Given the description of an element on the screen output the (x, y) to click on. 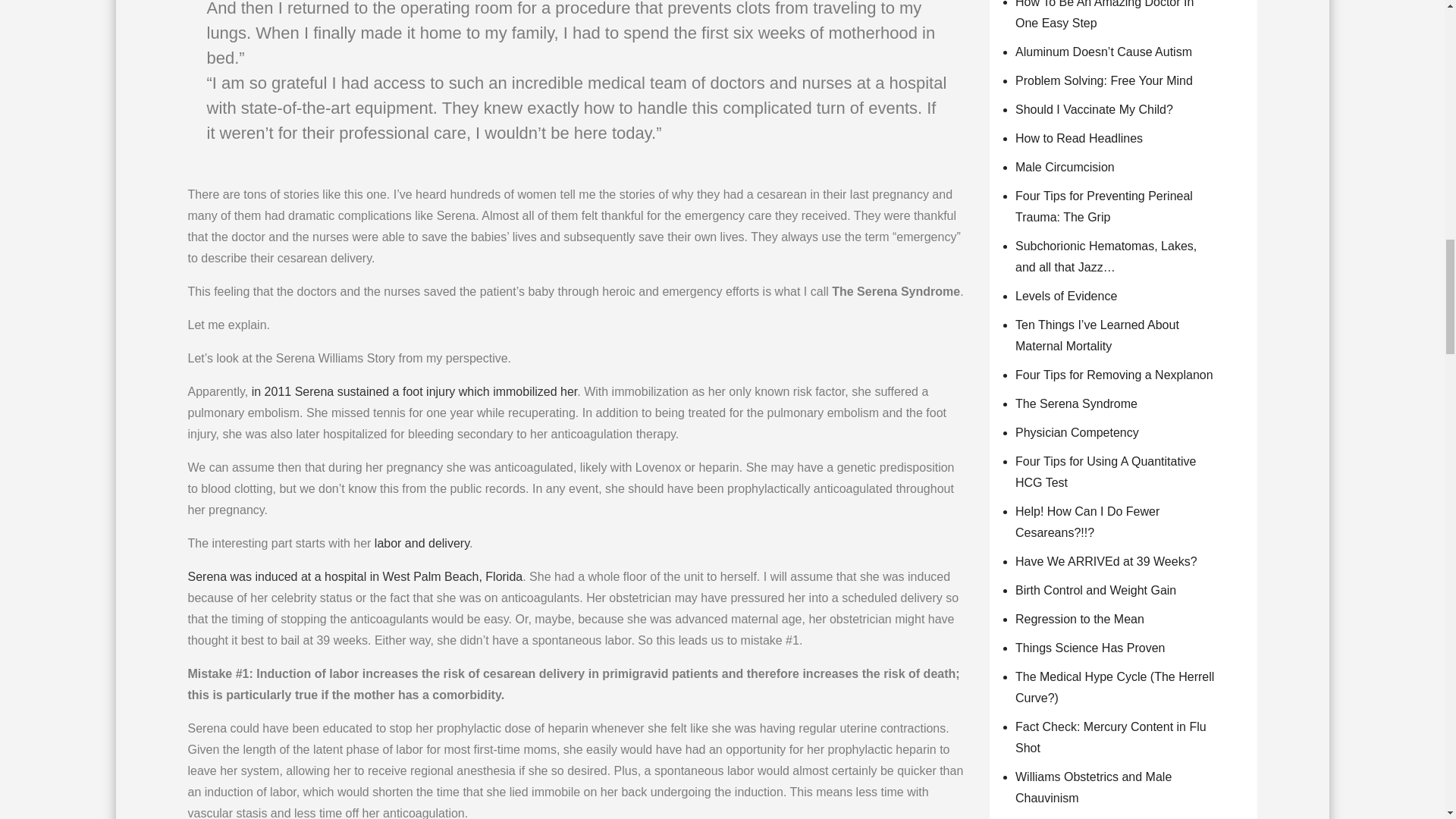
labor and delivery (421, 543)
in 2011 Serena sustained a foot injury which immobilized her (414, 391)
Serena was induced at a hospital in West Palm Beach, Florida (354, 576)
